Given the description of an element on the screen output the (x, y) to click on. 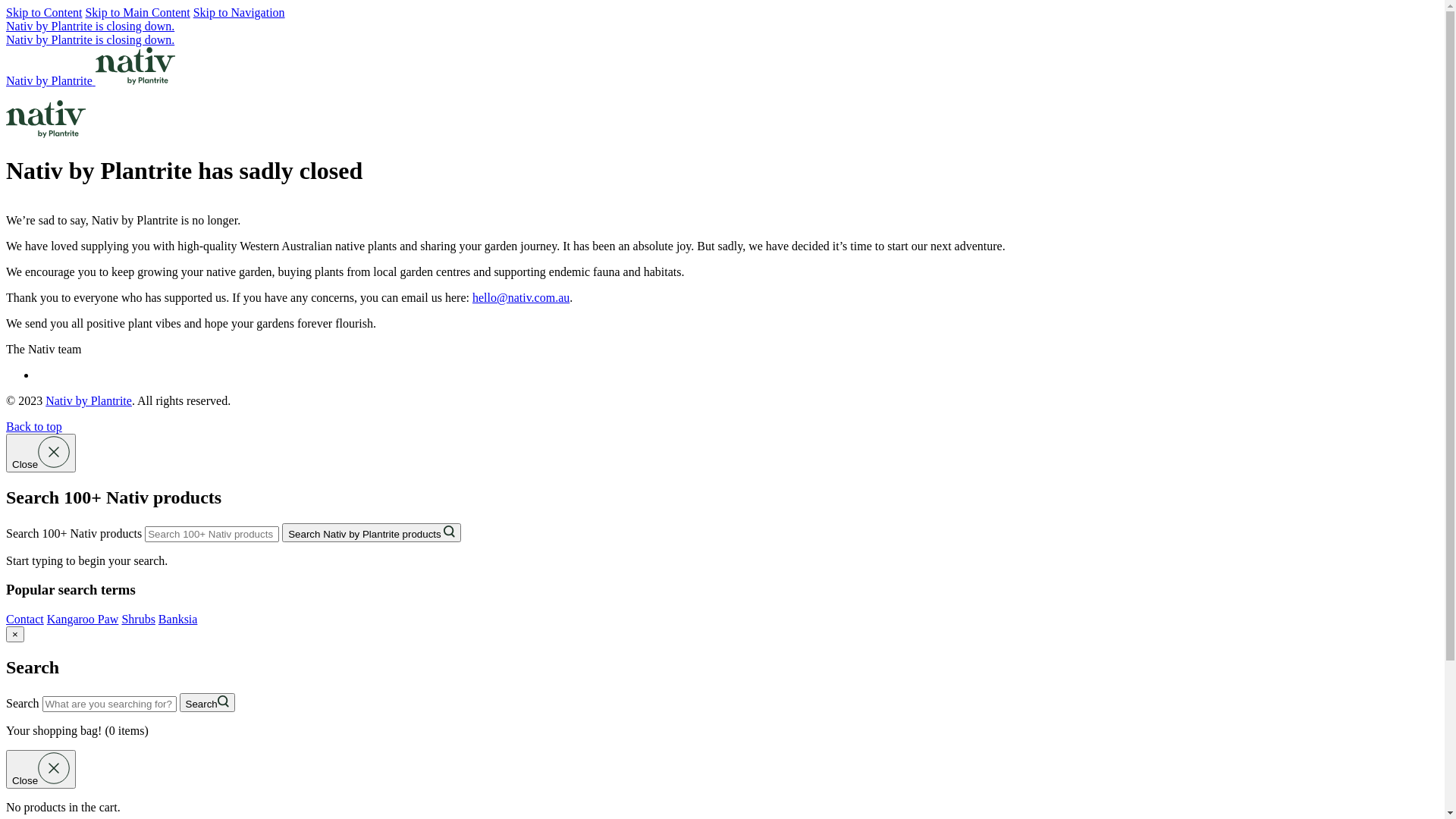
Skip to Content Element type: text (43, 12)
Contact Element type: text (24, 618)
Nativ by Plantrite Element type: text (88, 400)
Search Element type: text (207, 702)
Banksia Element type: text (177, 618)
Back to top Element type: text (34, 426)
Kangaroo Paw Element type: text (83, 618)
hello@nativ.com.au Element type: text (520, 297)
Close Element type: text (40, 452)
Skip to Main Content Element type: text (136, 12)
Close Element type: text (40, 768)
Nativ by Plantrite Element type: text (90, 80)
Skip to Navigation Element type: text (239, 12)
Search Nativ by Plantrite products Element type: text (371, 532)
Shrubs Element type: text (137, 618)
